Given the description of an element on the screen output the (x, y) to click on. 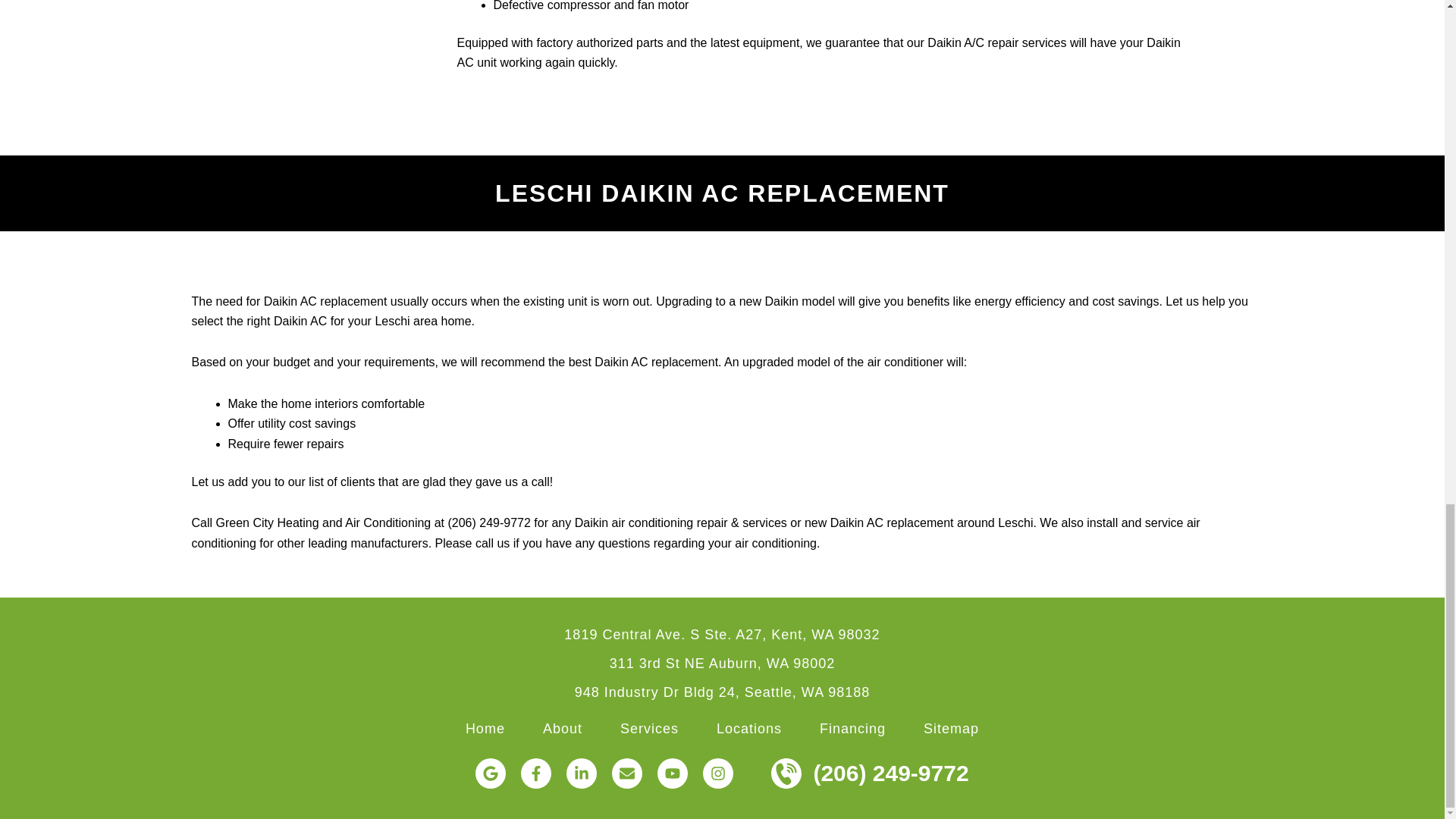
Services (649, 728)
Home (485, 728)
Financing (852, 728)
948 Industry Dr Bldg 24, Seattle, WA 98188 (722, 692)
About (562, 728)
311 3rd St NE Auburn, WA 98002 (722, 663)
1819 Central Ave. S Ste. A27, Kent, WA 98032 (721, 634)
Locations (748, 728)
